Given the description of an element on the screen output the (x, y) to click on. 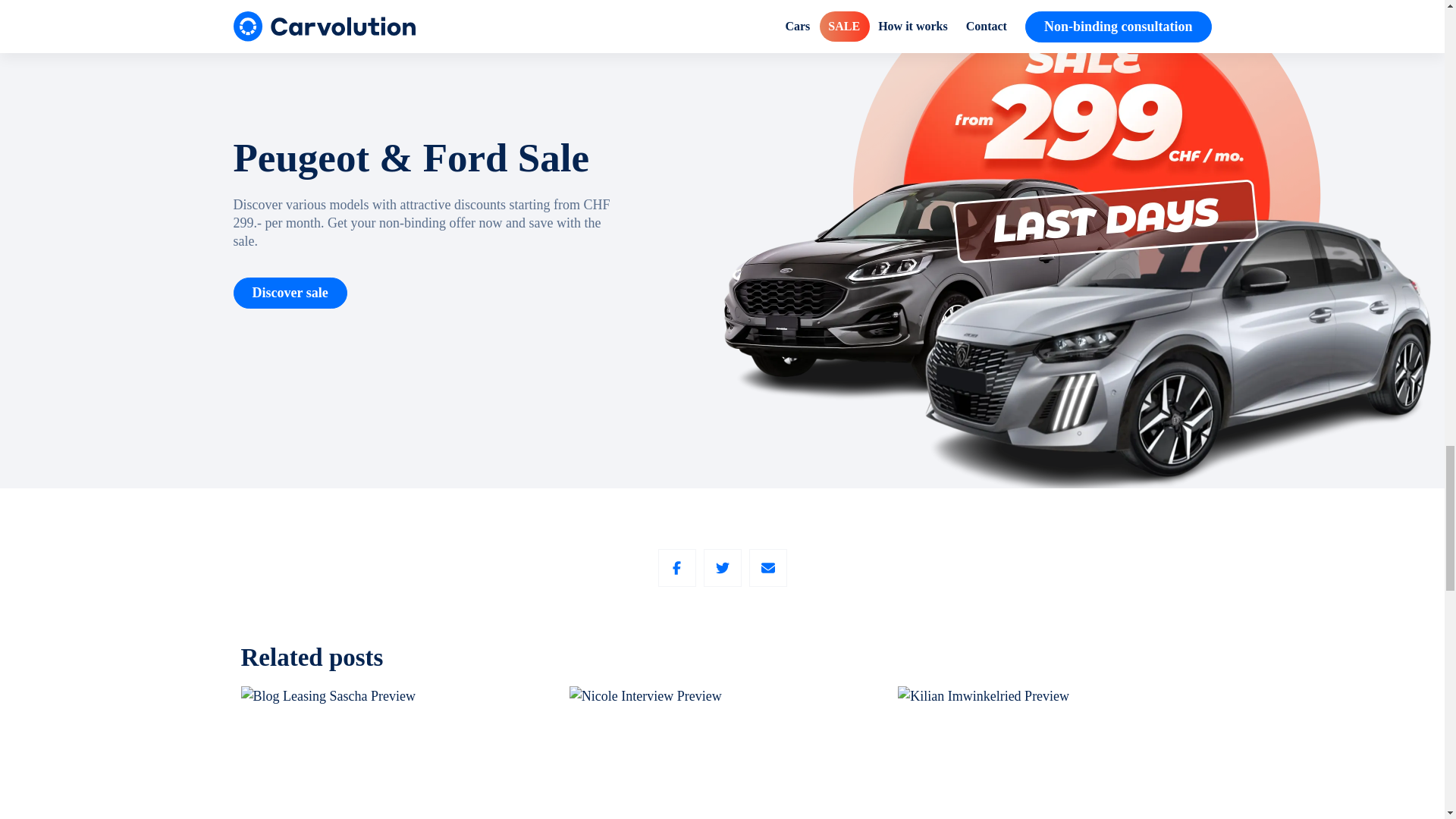
Discover sale (289, 292)
